Given the description of an element on the screen output the (x, y) to click on. 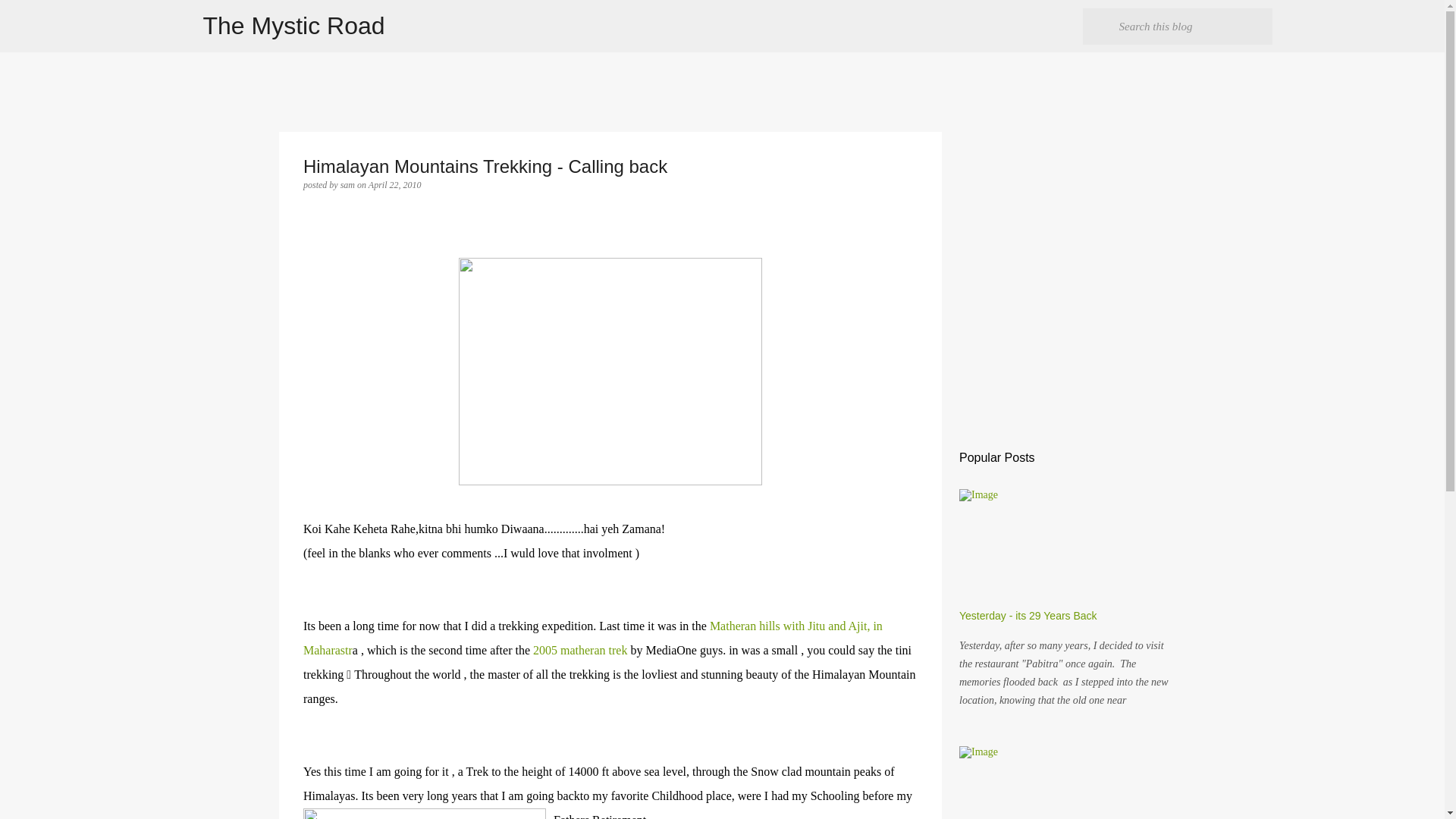
permanent link (395, 184)
2005 matheran trek (579, 649)
Yesterday - its 29 Years Back (1028, 615)
The Mystic Road (294, 25)
Matheran hills with Jitu and Ajit, in Maharastr (592, 637)
April 22, 2010 (395, 184)
